Given the description of an element on the screen output the (x, y) to click on. 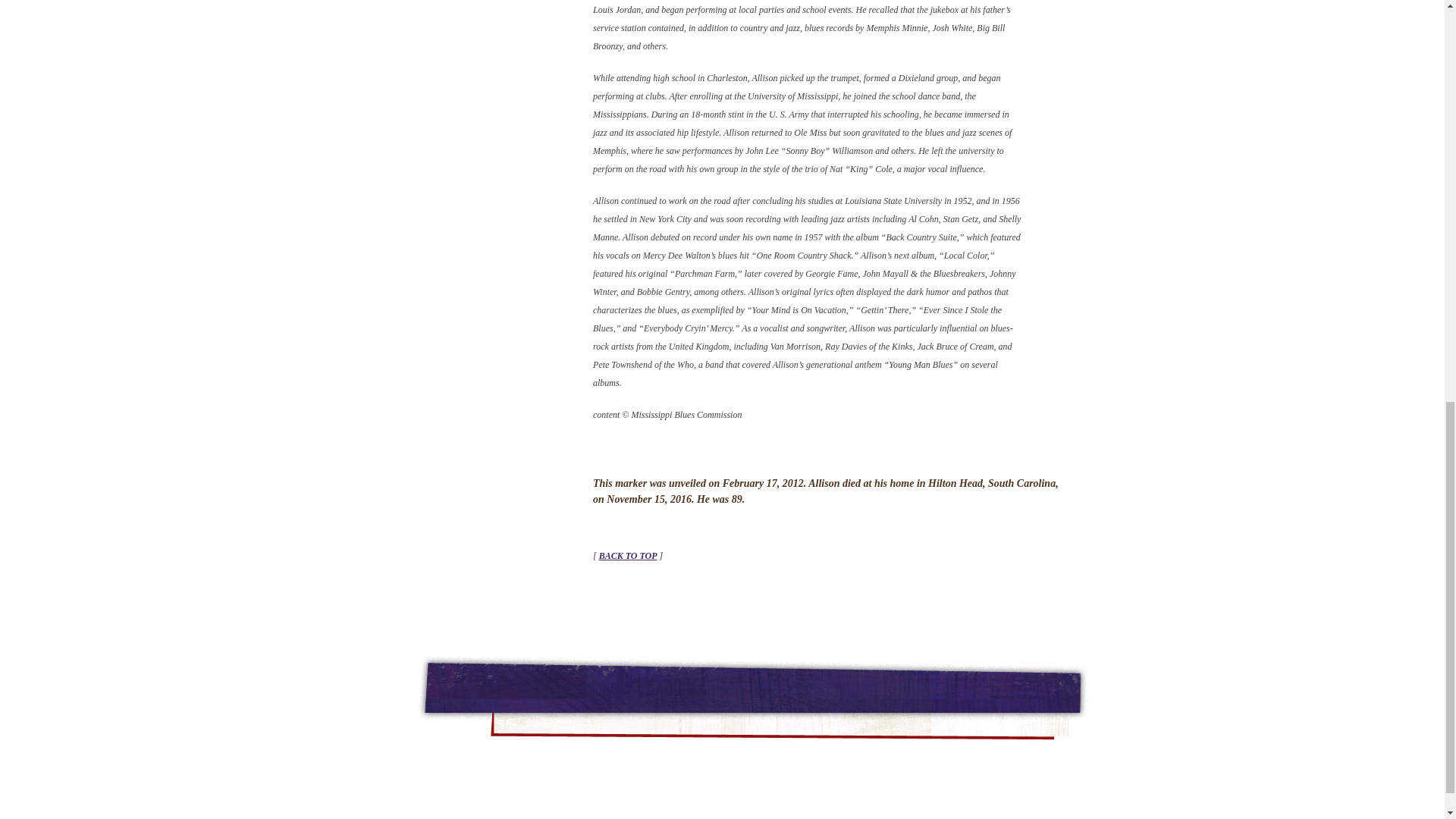
BACK TO TOP (628, 555)
